Given the description of an element on the screen output the (x, y) to click on. 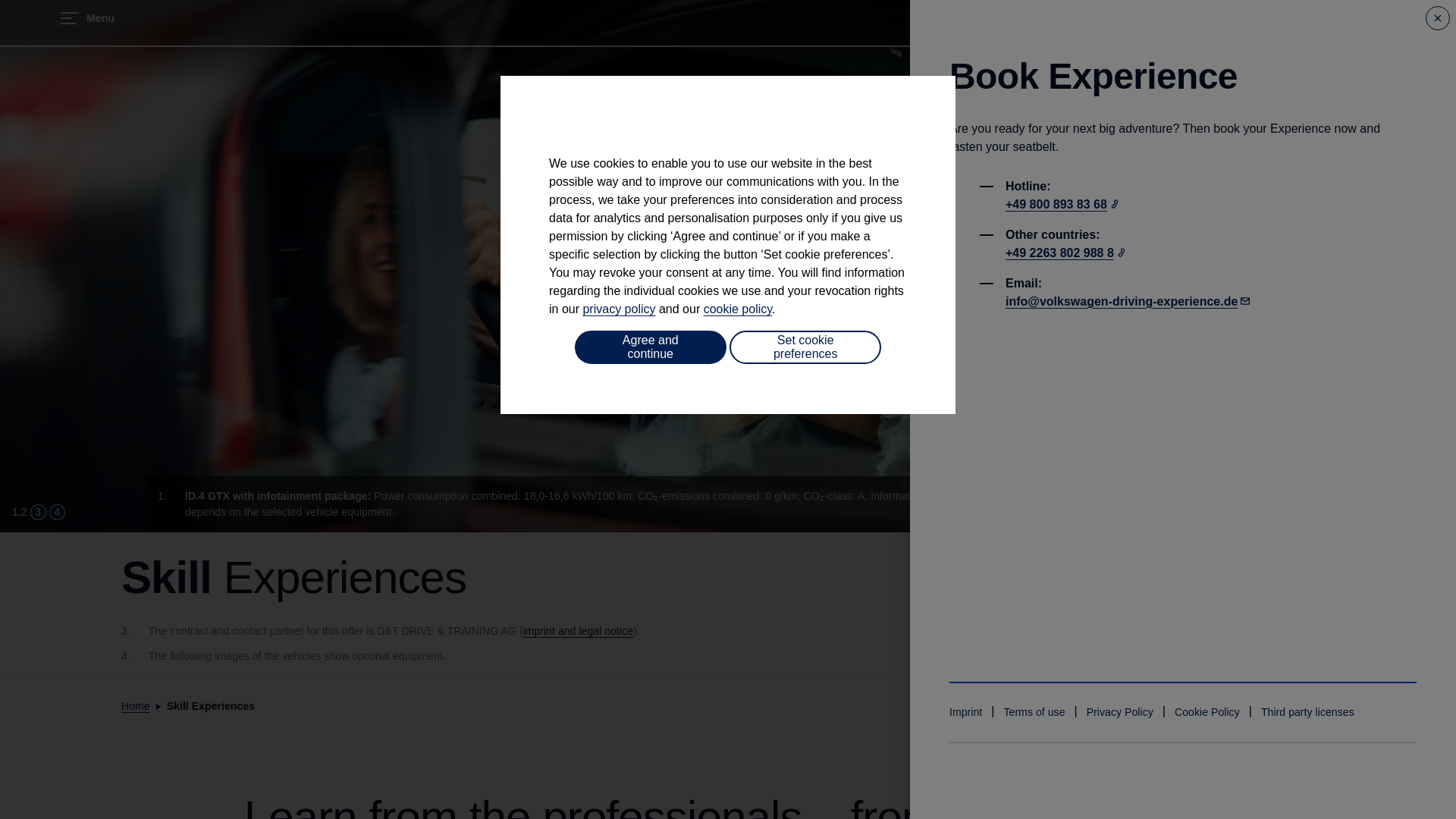
Agree and continue (650, 346)
imprint and legal notice (577, 631)
Set cookie preferences (804, 346)
4 (57, 512)
privacy policy (618, 308)
Volkswagen (992, 46)
Volkswagen (992, 62)
3 (38, 512)
Skip to main content (32, 121)
Menu (88, 18)
